Given the description of an element on the screen output the (x, y) to click on. 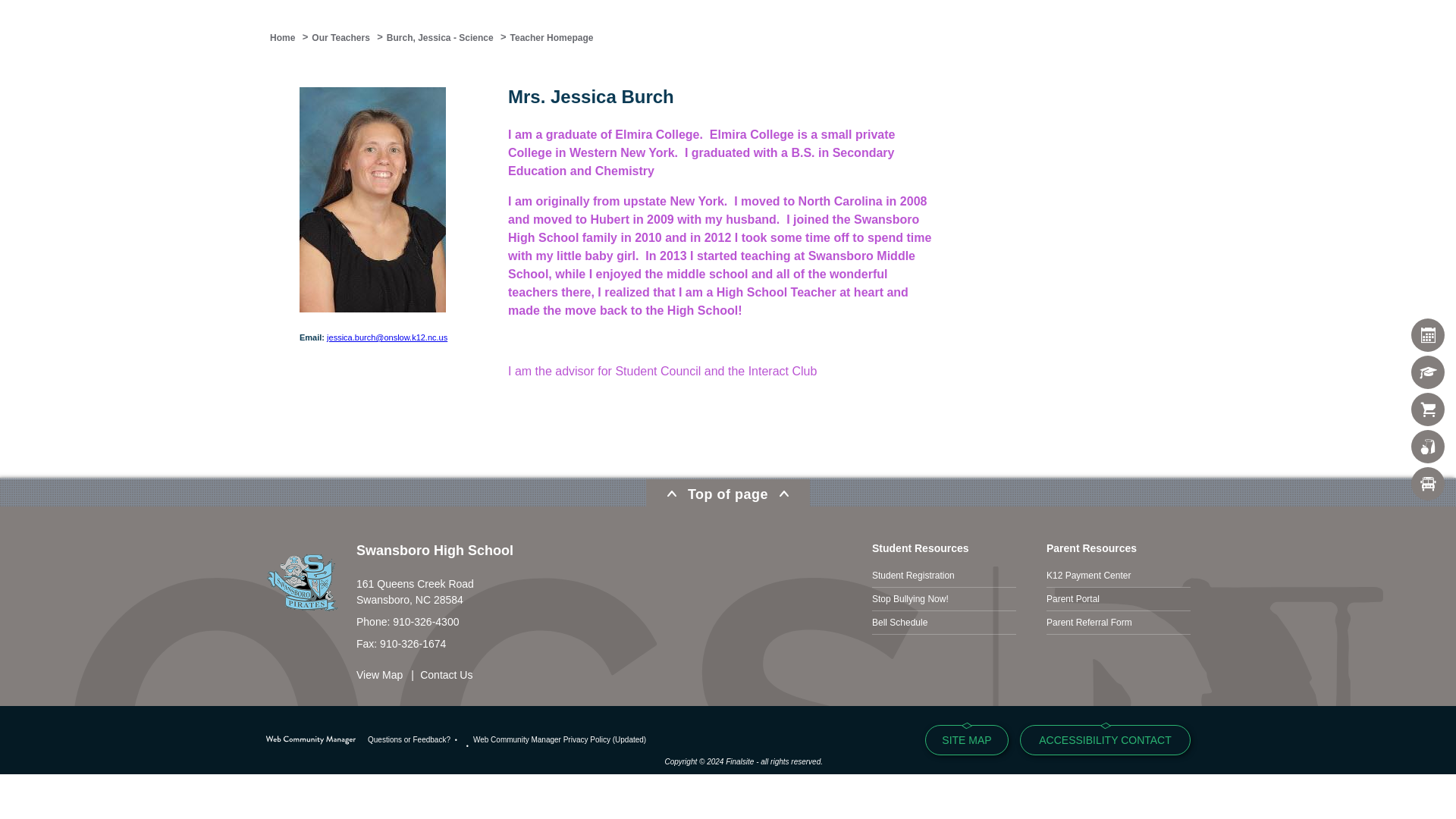
Finalsite - all rights reserved (310, 739)
Click to email the primary contact (408, 739)
